Given the description of an element on the screen output the (x, y) to click on. 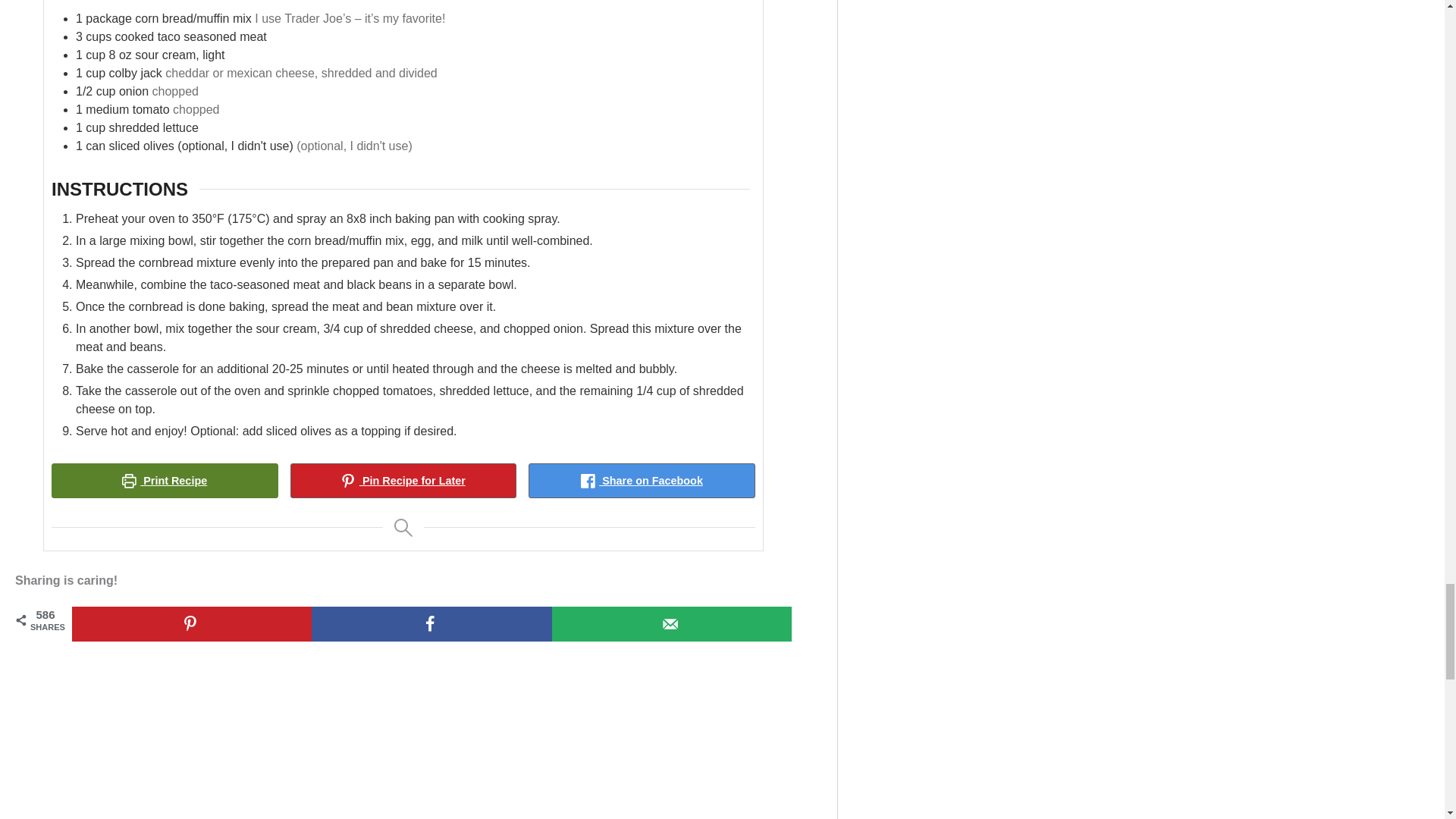
Pin Recipe for Later (402, 480)
Share on Facebook (641, 480)
Save to Pinterest (191, 623)
Print Recipe (164, 480)
Share on Facebook (431, 623)
Send over email (671, 623)
